Given the description of an element on the screen output the (x, y) to click on. 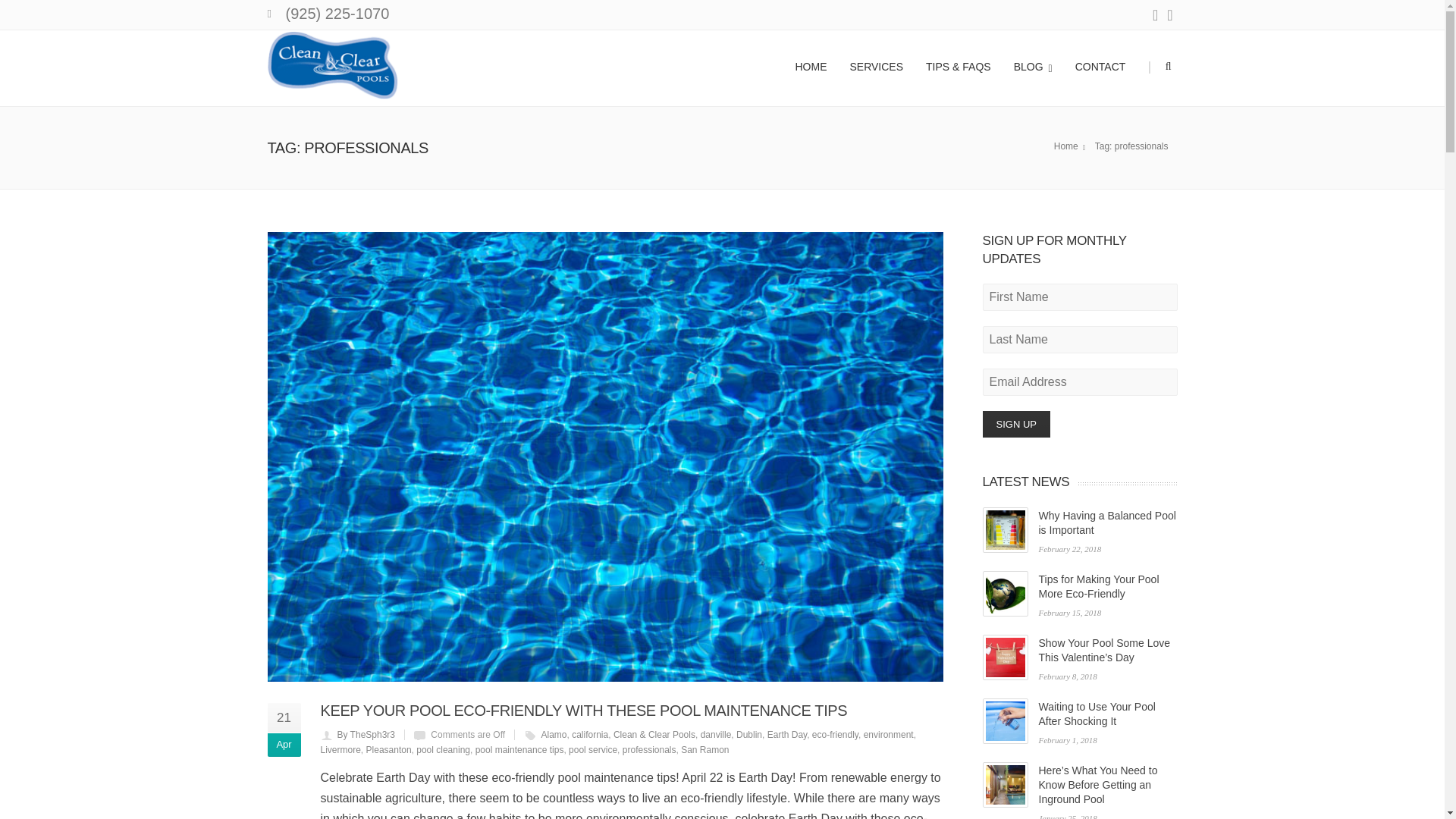
danville (716, 734)
Earth Day (786, 734)
environment (888, 734)
Pleasanton (389, 749)
california (590, 734)
KEEP YOUR POOL ECO-FRIENDLY WITH THESE POOL MAINTENANCE TIPS (583, 710)
By TheSph3r3 (365, 734)
CONTACT (1100, 64)
Visit Us on Facebook (1154, 15)
